Given the description of an element on the screen output the (x, y) to click on. 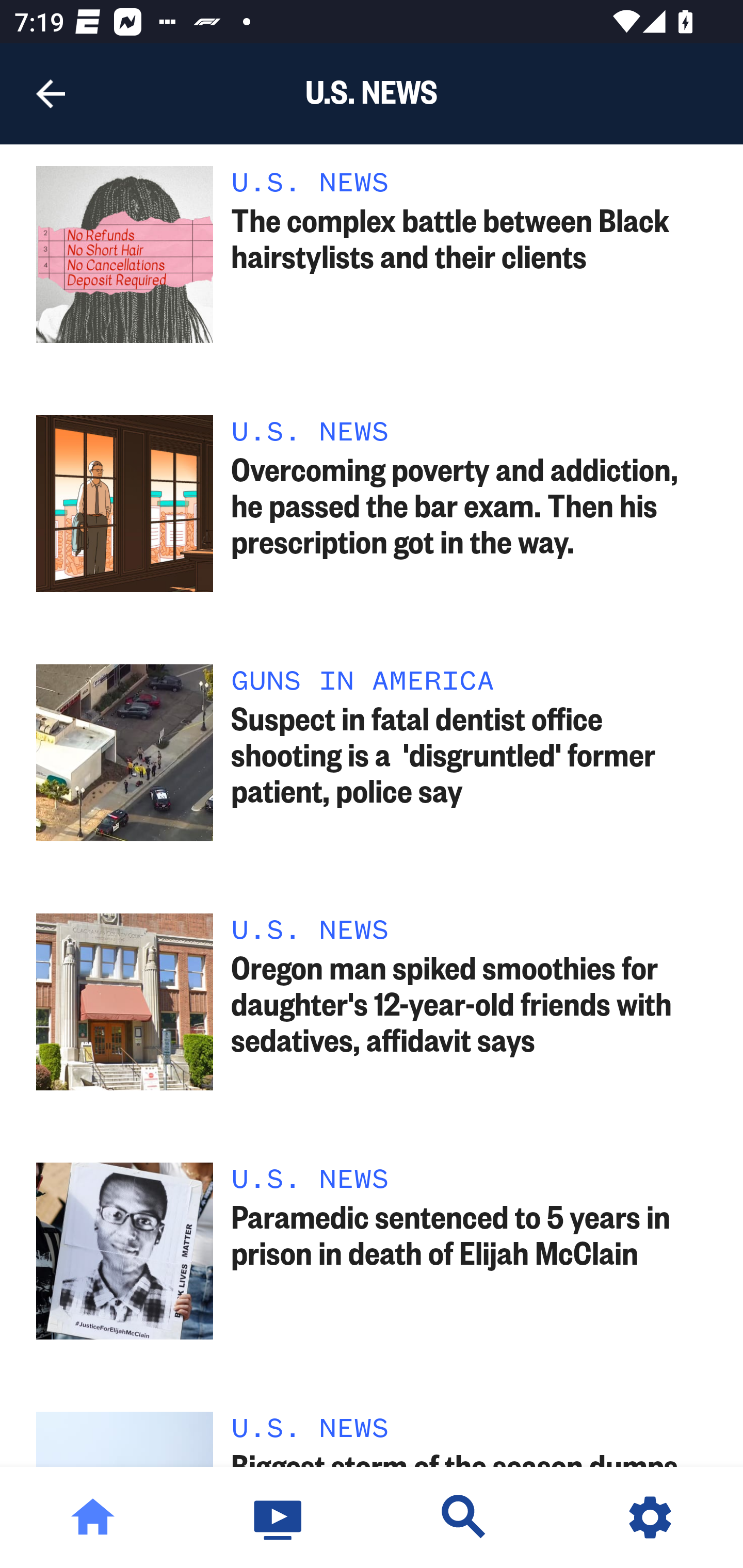
Navigate up (50, 93)
Watch (278, 1517)
Discover (464, 1517)
Settings (650, 1517)
